Given the description of an element on the screen output the (x, y) to click on. 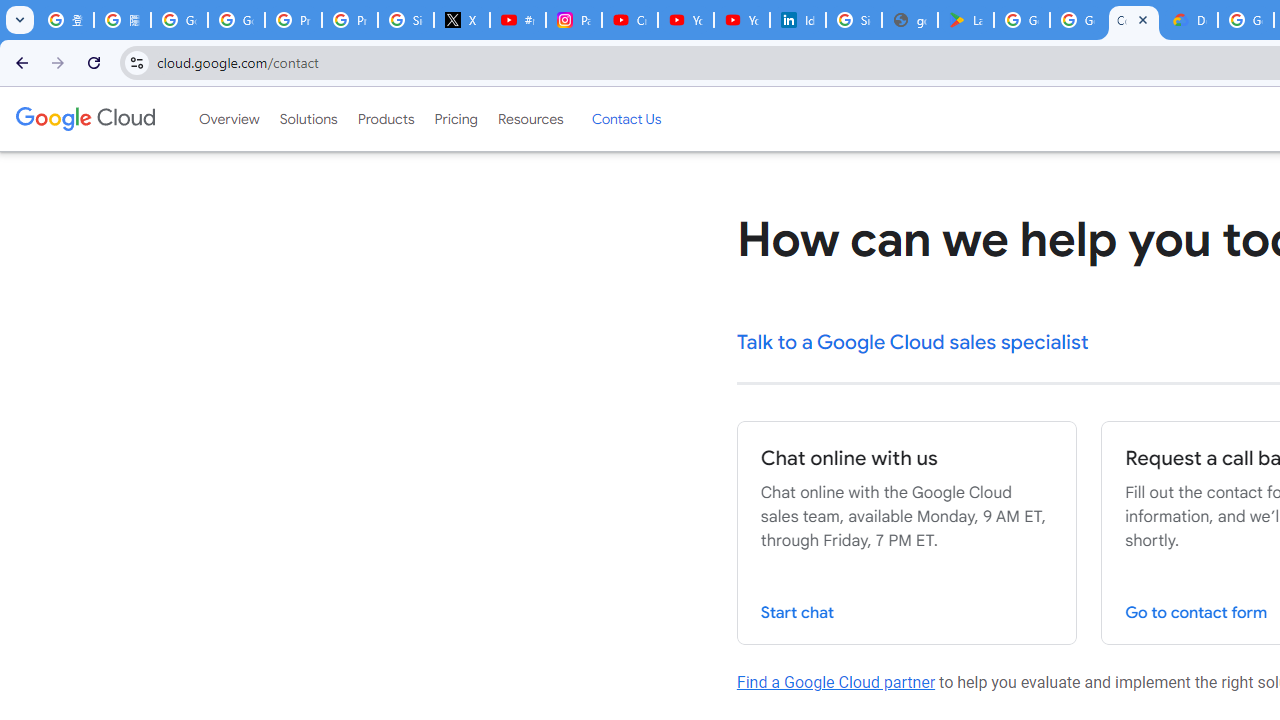
Search tabs (20, 20)
Google Cloud (84, 118)
System (10, 11)
Pricing (455, 119)
X (461, 20)
Reload (93, 62)
